Given the description of an element on the screen output the (x, y) to click on. 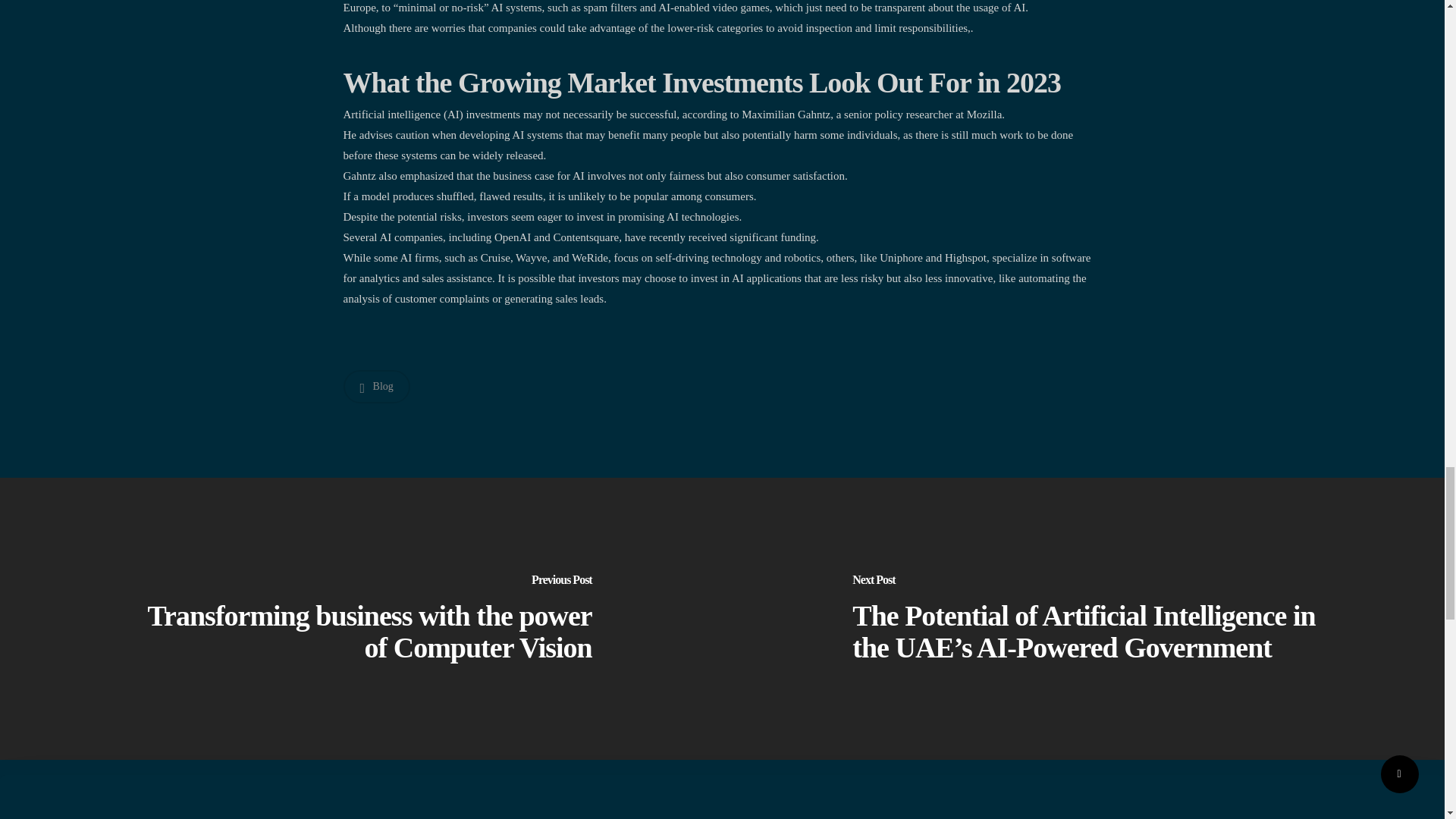
Blog (375, 386)
